Given the description of an element on the screen output the (x, y) to click on. 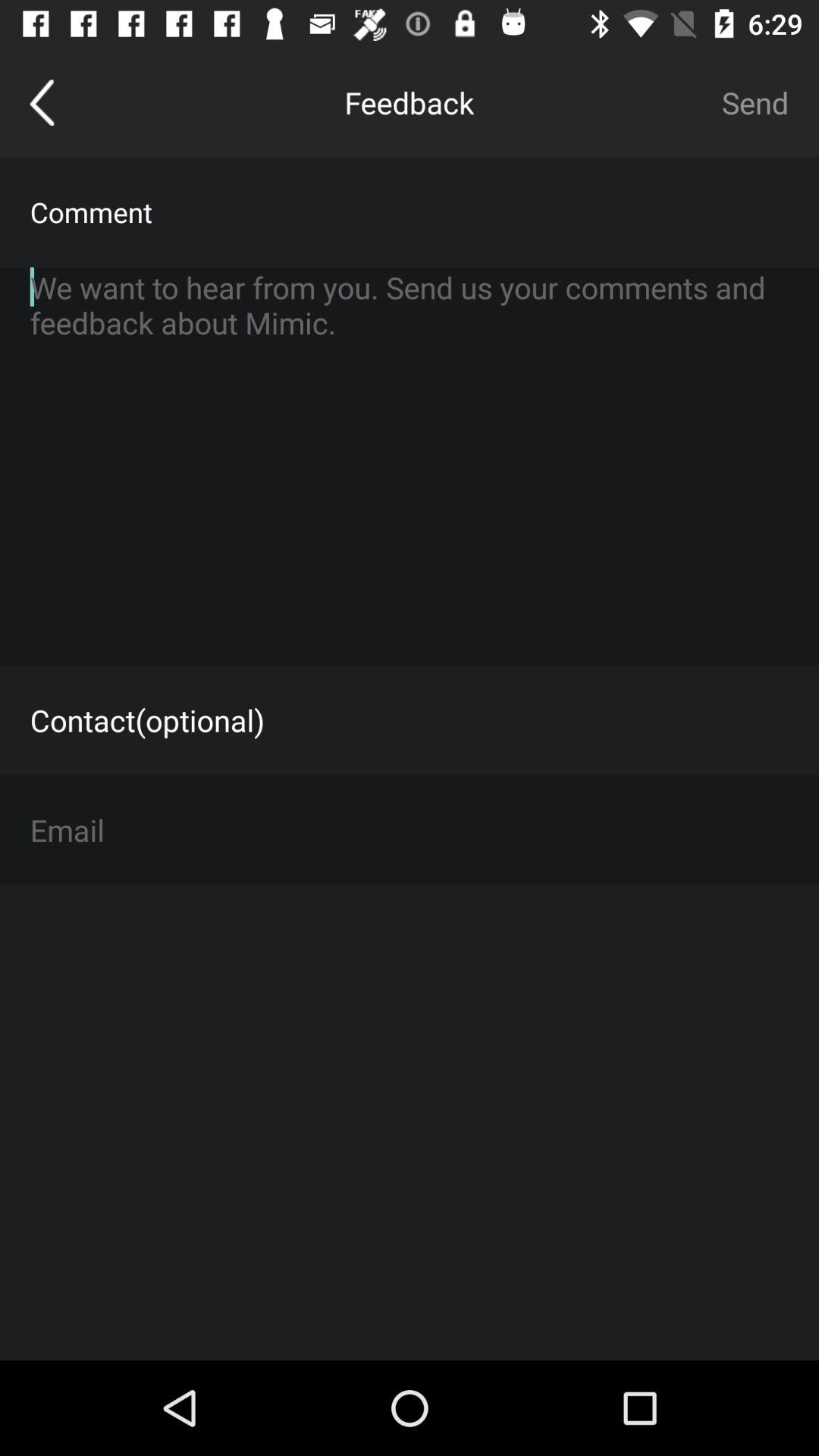
launch the item above comment item (755, 102)
